Given the description of an element on the screen output the (x, y) to click on. 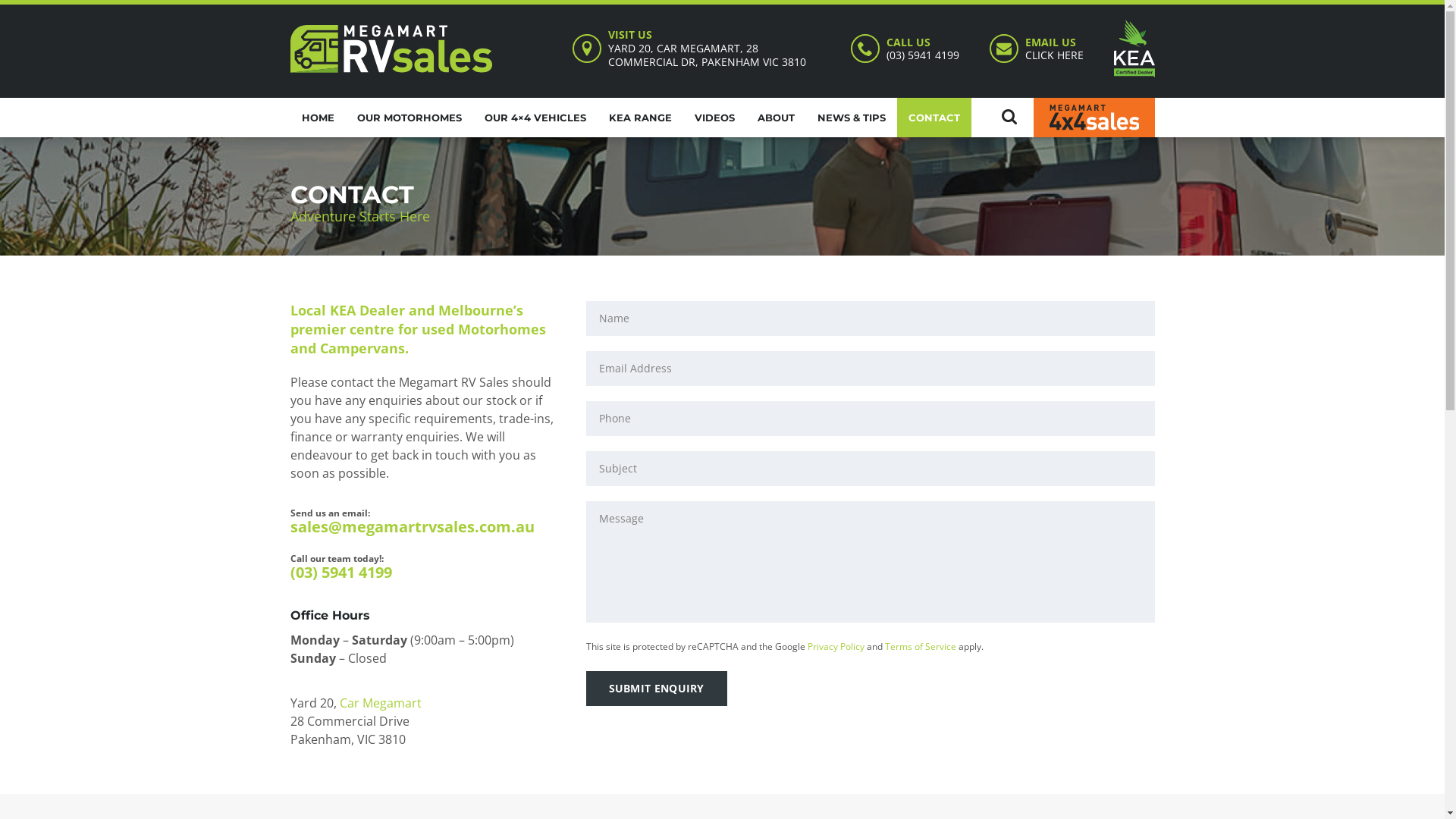
Submit Enquiry Element type: text (655, 688)
sales@megamartrvsales.com.au Element type: text (411, 526)
Terms of Service Element type: text (919, 646)
HOME Element type: text (317, 117)
Car Megamart Element type: text (380, 702)
(03) 5941 4199 Element type: text (340, 571)
CLICK HERE Element type: text (1054, 55)
NEWS & TIPS Element type: text (850, 117)
ABOUT Element type: text (776, 117)
KEA RANGE Element type: text (640, 117)
(03) 5941 4199 Element type: text (921, 55)
Privacy Policy Element type: text (834, 646)
YARD 20, CAR MEGAMART, 28 COMMERCIAL DR, PAKENHAM VIC 3810 Element type: text (707, 54)
OUR MOTORHOMES Element type: text (409, 117)
VIDEOS Element type: text (713, 117)
CONTACT Element type: text (933, 117)
